Given the description of an element on the screen output the (x, y) to click on. 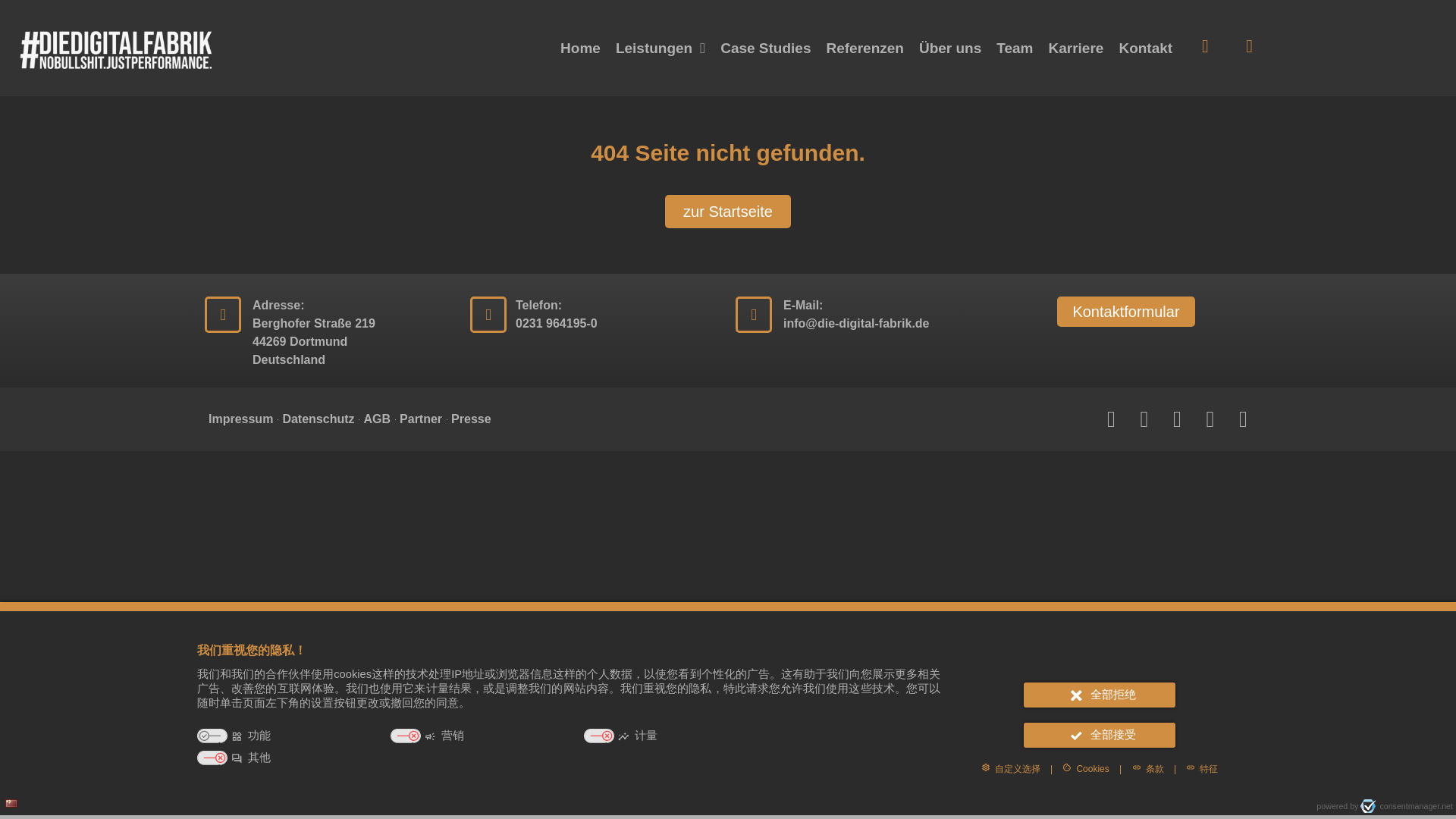
Team (1014, 48)
Home (580, 48)
Case Studies (765, 48)
Karriere (1076, 48)
Leistungen (660, 48)
Referenzen (864, 48)
Kontakt (1144, 48)
